Given the description of an element on the screen output the (x, y) to click on. 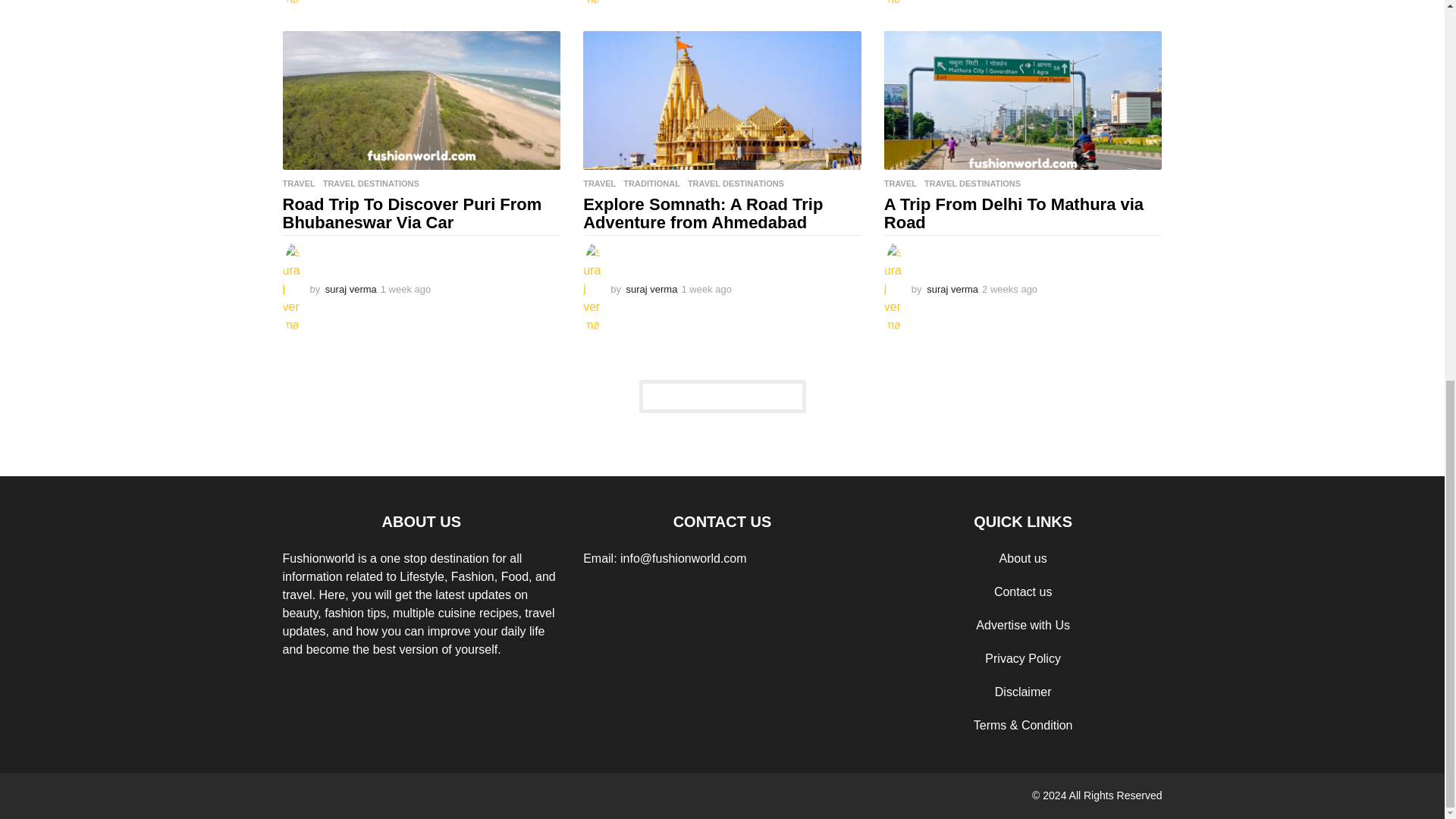
Explore Somnath: A Road Trip Adventure from Ahmedabad (722, 100)
